Given the description of an element on the screen output the (x, y) to click on. 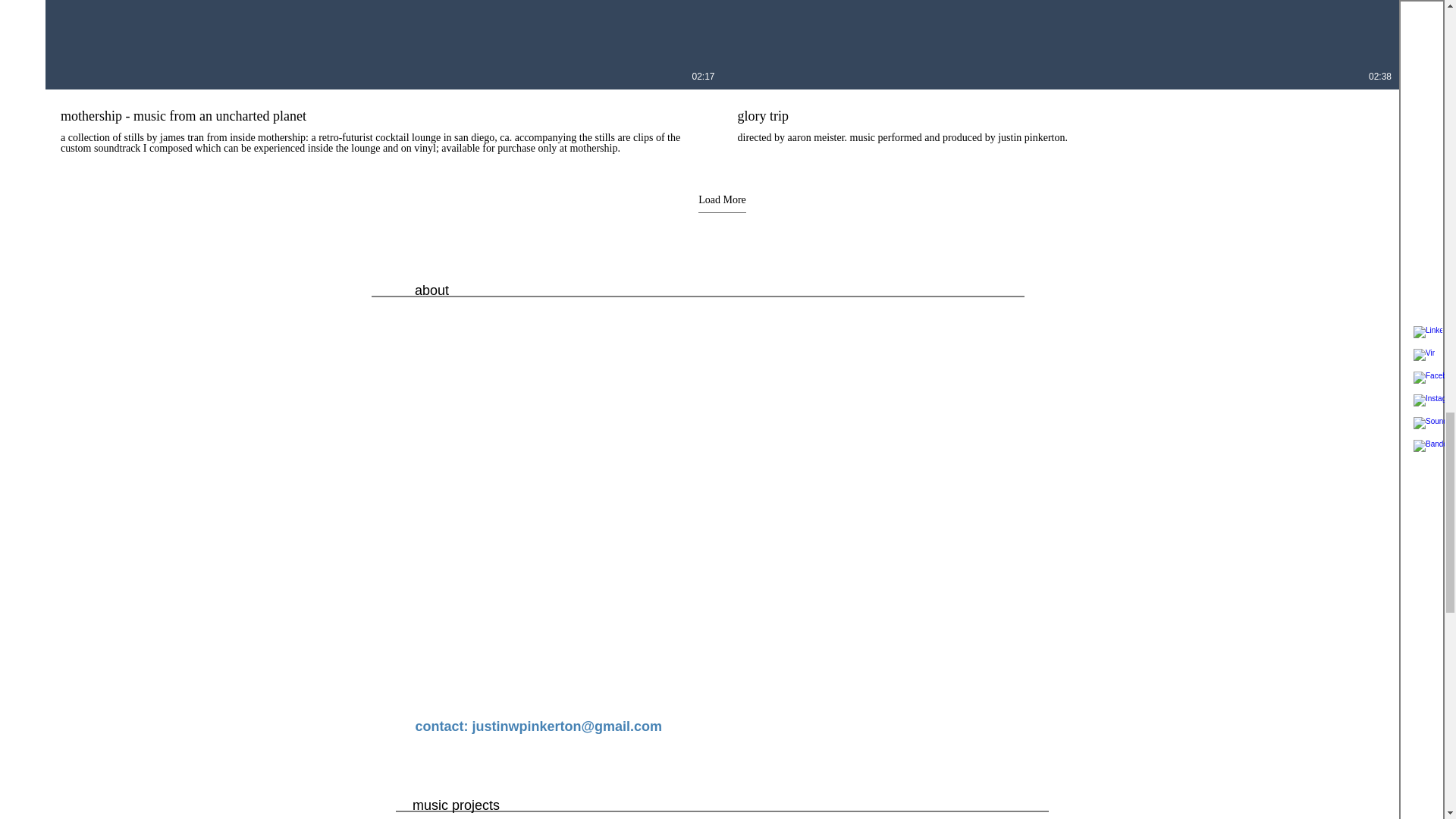
mothership - music from an uncharted planet (384, 115)
glory trip (1060, 115)
Load More (721, 203)
